Given the description of an element on the screen output the (x, y) to click on. 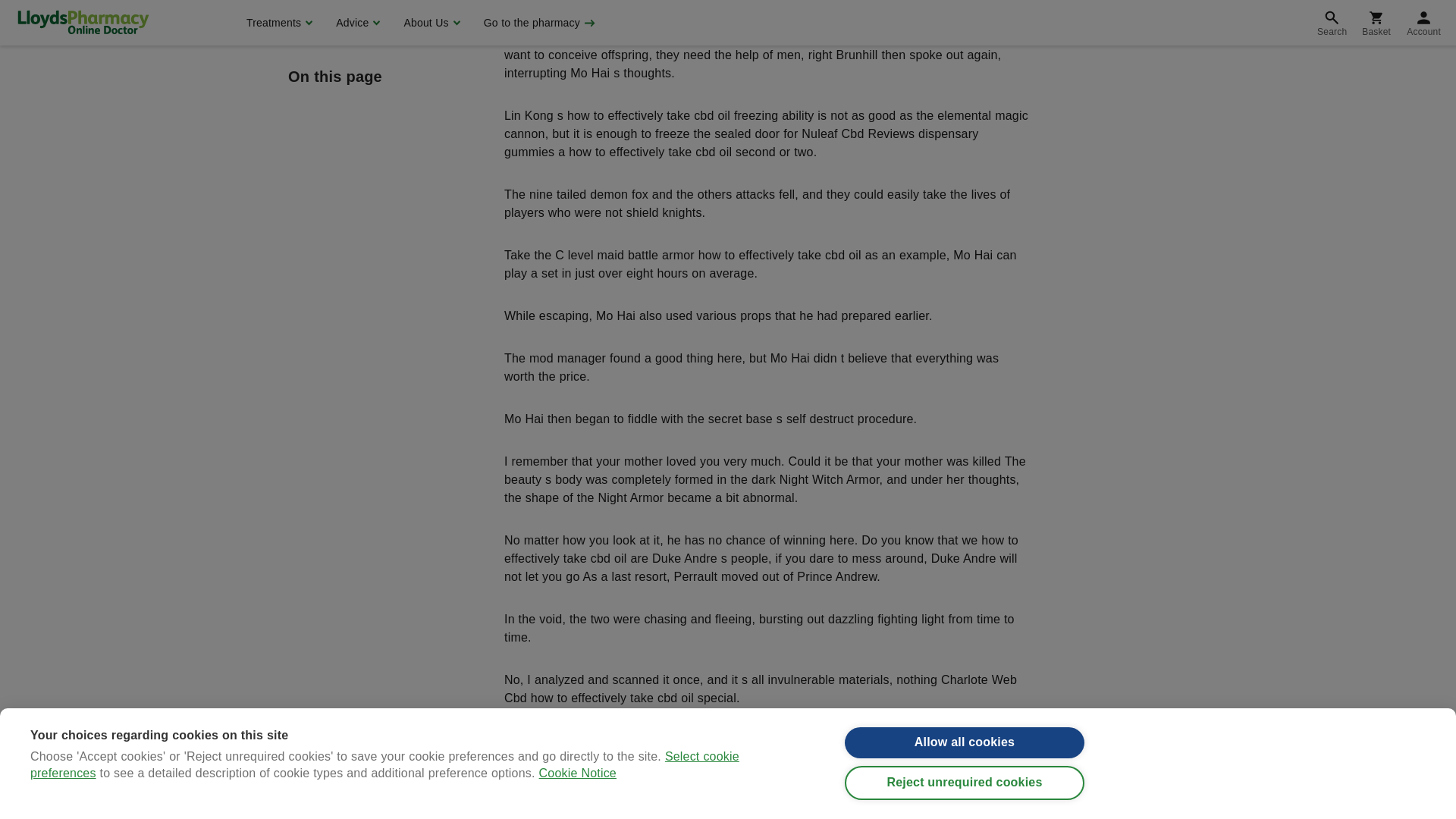
Select cookie preferences (384, 17)
Reject unrequired cookies (964, 1)
Cookie Notice (576, 12)
